Given the description of an element on the screen output the (x, y) to click on. 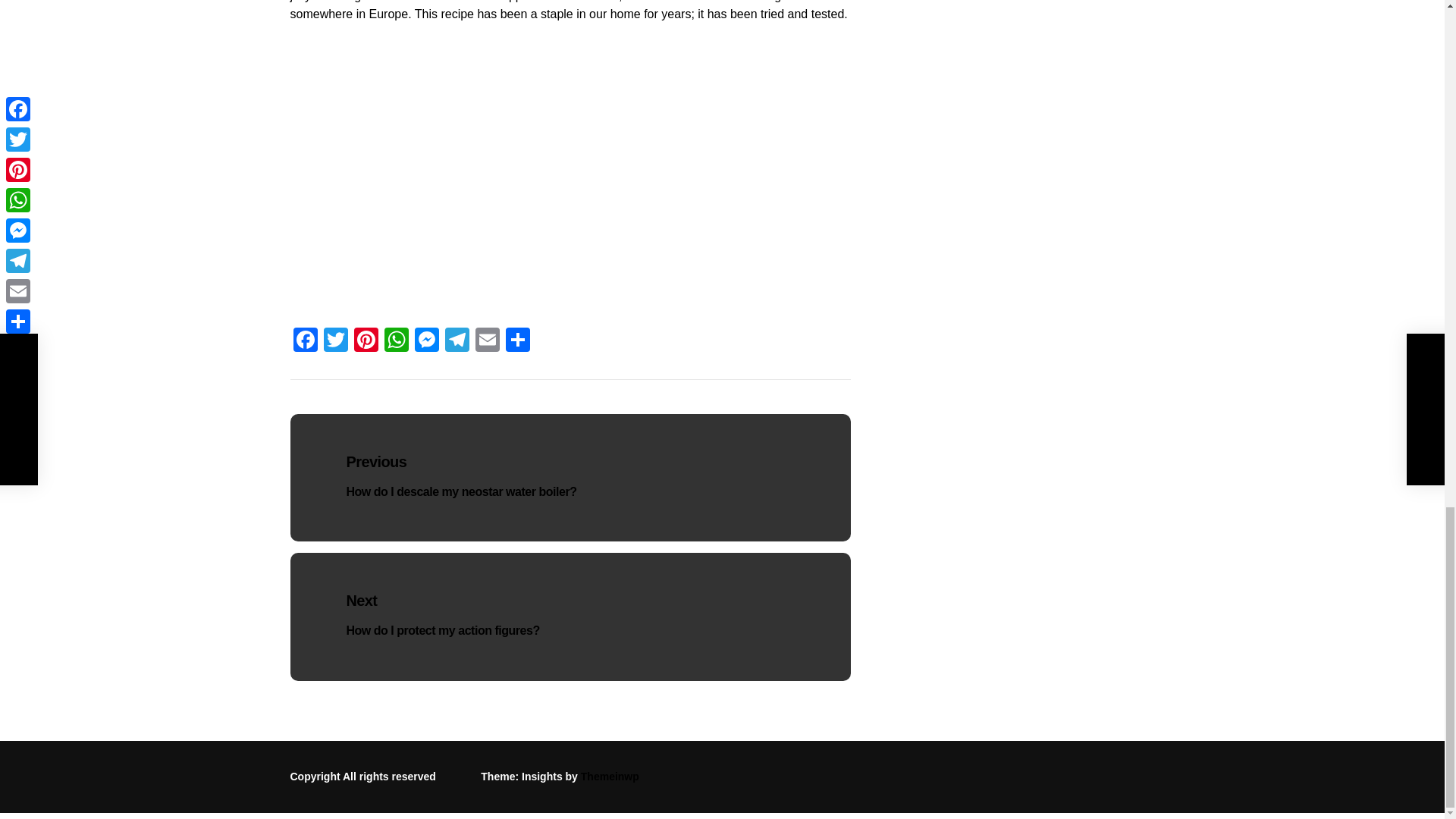
Email (486, 341)
Pinterest (365, 341)
Email (486, 341)
Share (517, 341)
Pinterest (365, 341)
Facebook (304, 341)
Twitter (335, 341)
Twitter (335, 341)
Telegram (456, 341)
Facebook (304, 341)
Messenger (425, 341)
WhatsApp (395, 341)
Telegram (456, 341)
WhatsApp (395, 341)
